Given the description of an element on the screen output the (x, y) to click on. 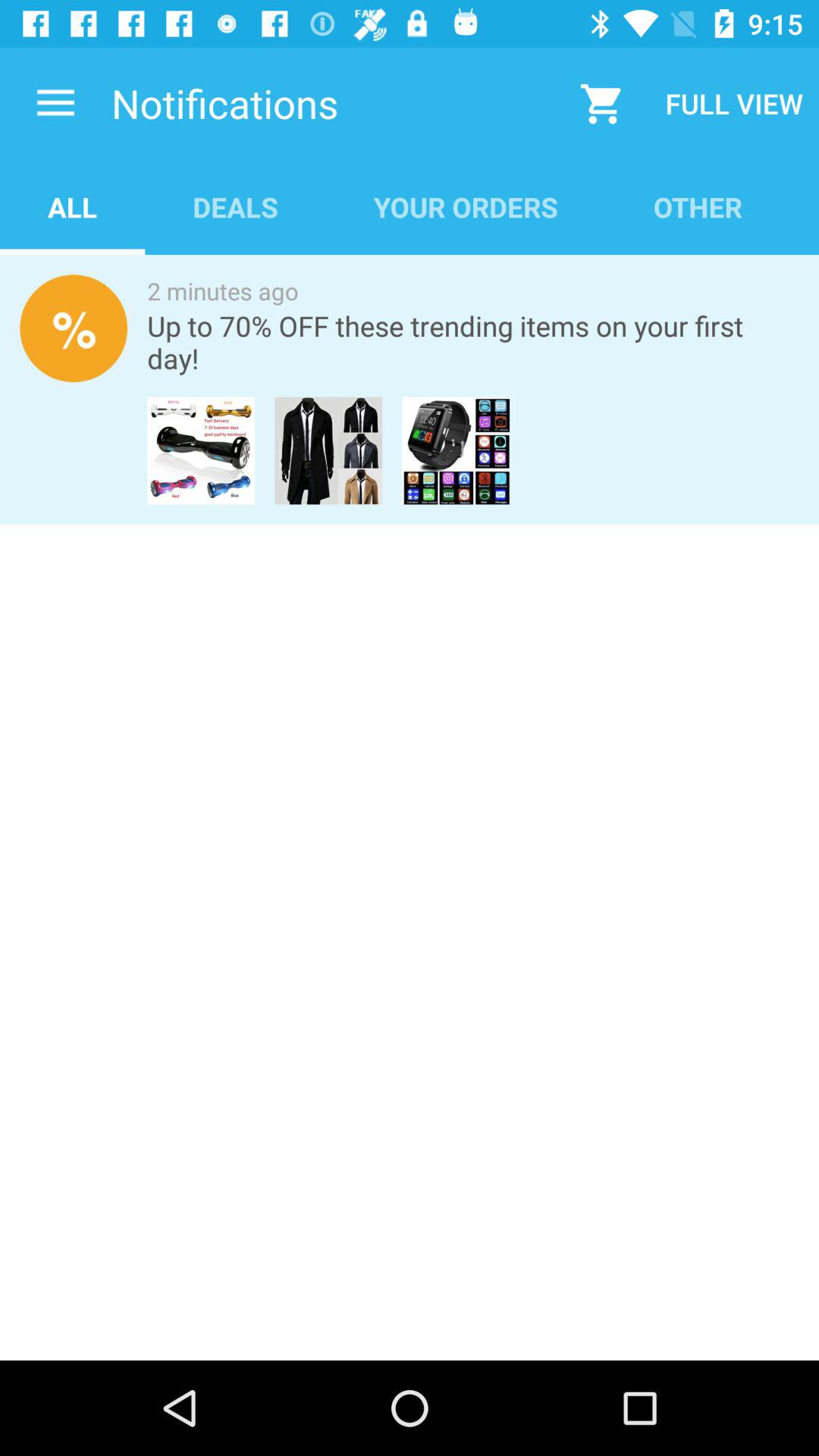
open icon next to the your orders (235, 206)
